Given the description of an element on the screen output the (x, y) to click on. 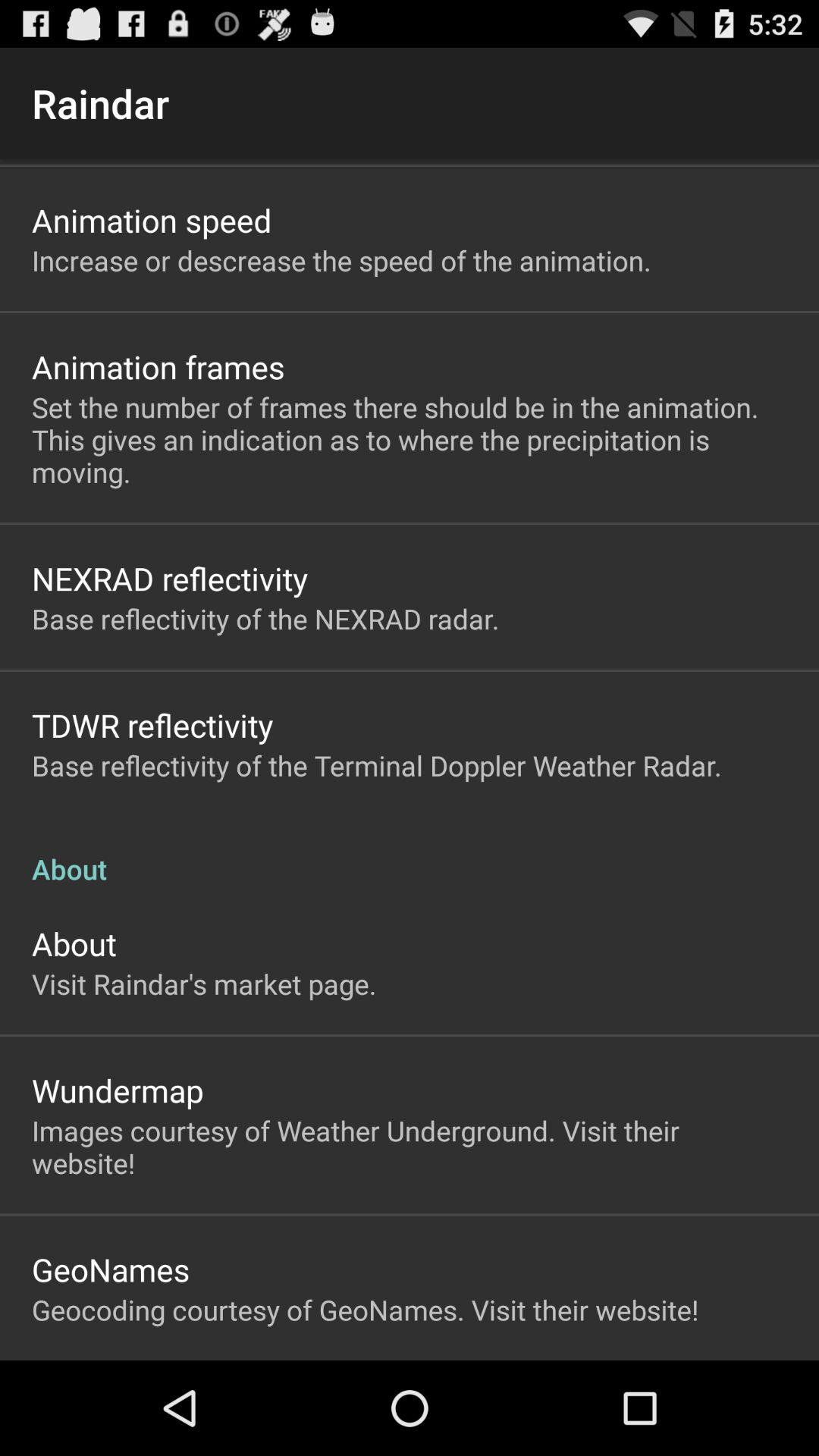
flip to the set the number item (409, 439)
